Given the description of an element on the screen output the (x, y) to click on. 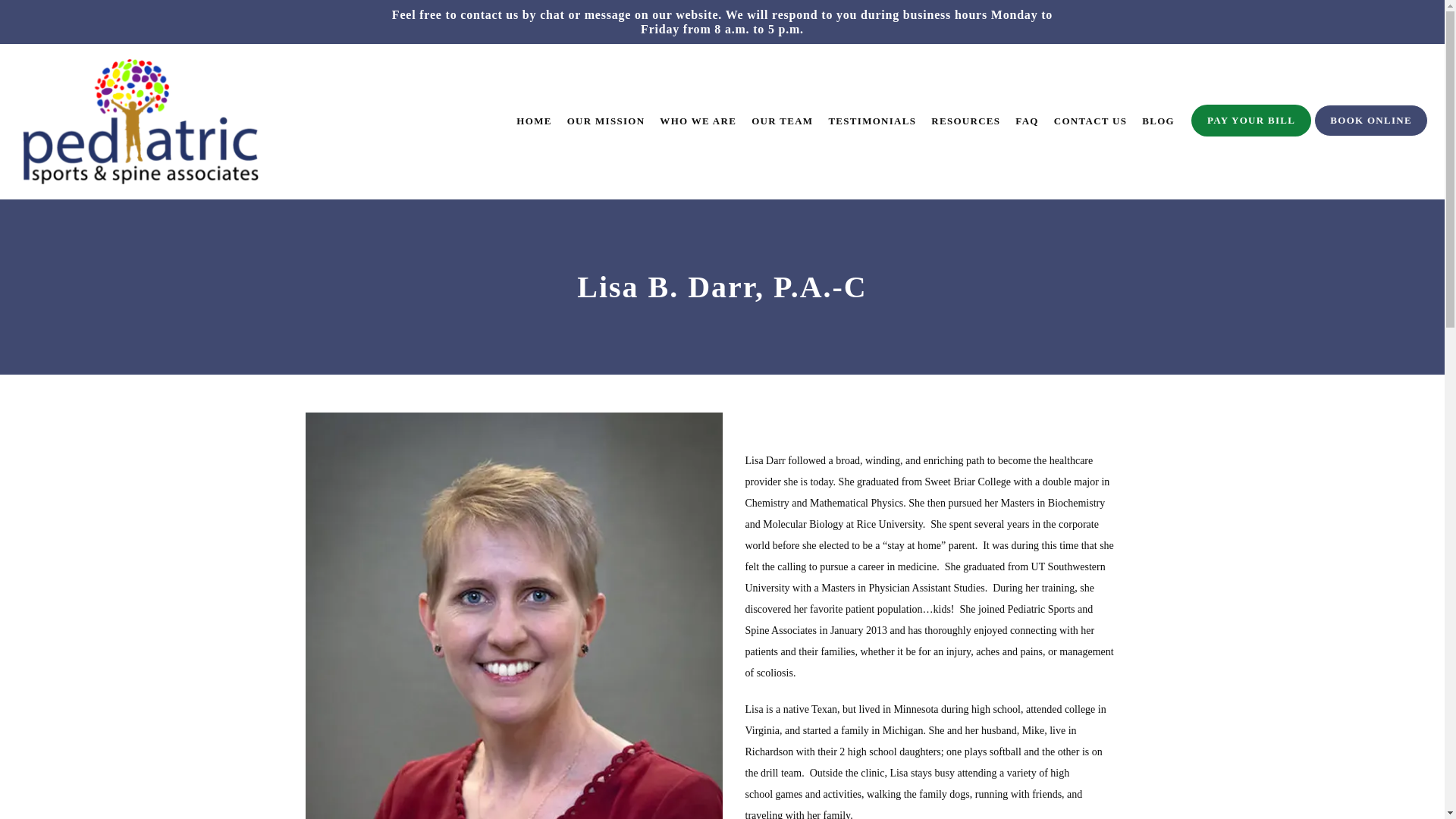
OUR TEAM (781, 120)
BLOG (1157, 120)
BOOK ONLINE (1371, 134)
HOME (533, 120)
PAY YOUR BILL (1251, 134)
WHO WE ARE (697, 120)
OUR MISSION (606, 120)
CONTACT US (1090, 120)
FAQ (1026, 120)
TESTIMONIALS (871, 120)
